Given the description of an element on the screen output the (x, y) to click on. 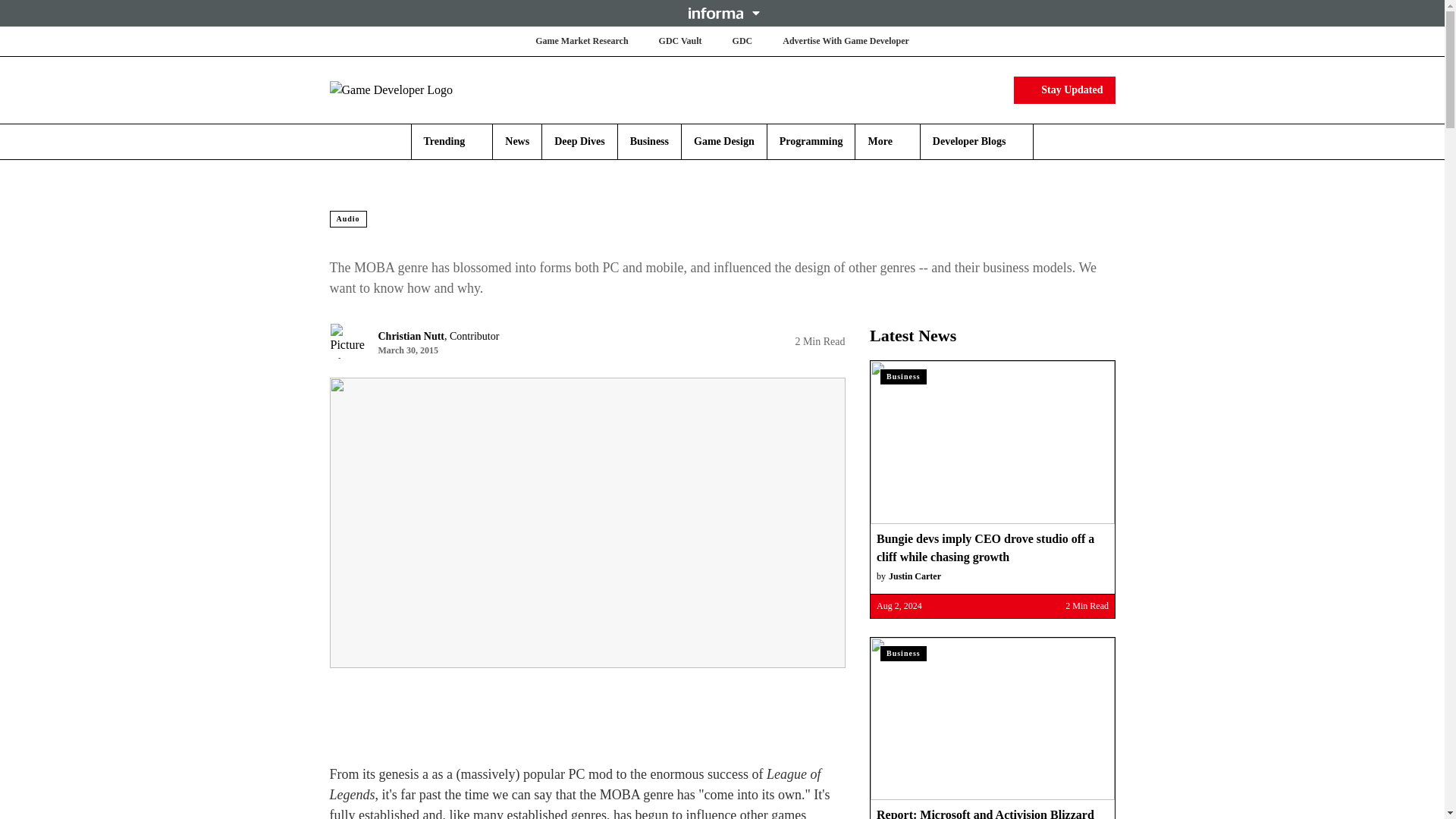
Picture of Christian Nutt (347, 340)
News (517, 141)
Programming (810, 141)
Game Developer Logo (419, 90)
GDC Vault (680, 41)
Deep Dives (579, 141)
Advertise With Game Developer (845, 41)
GDC (742, 41)
Stay Updated (1064, 89)
Business (649, 141)
Game Design (724, 141)
Game Market Research (581, 41)
